Given the description of an element on the screen output the (x, y) to click on. 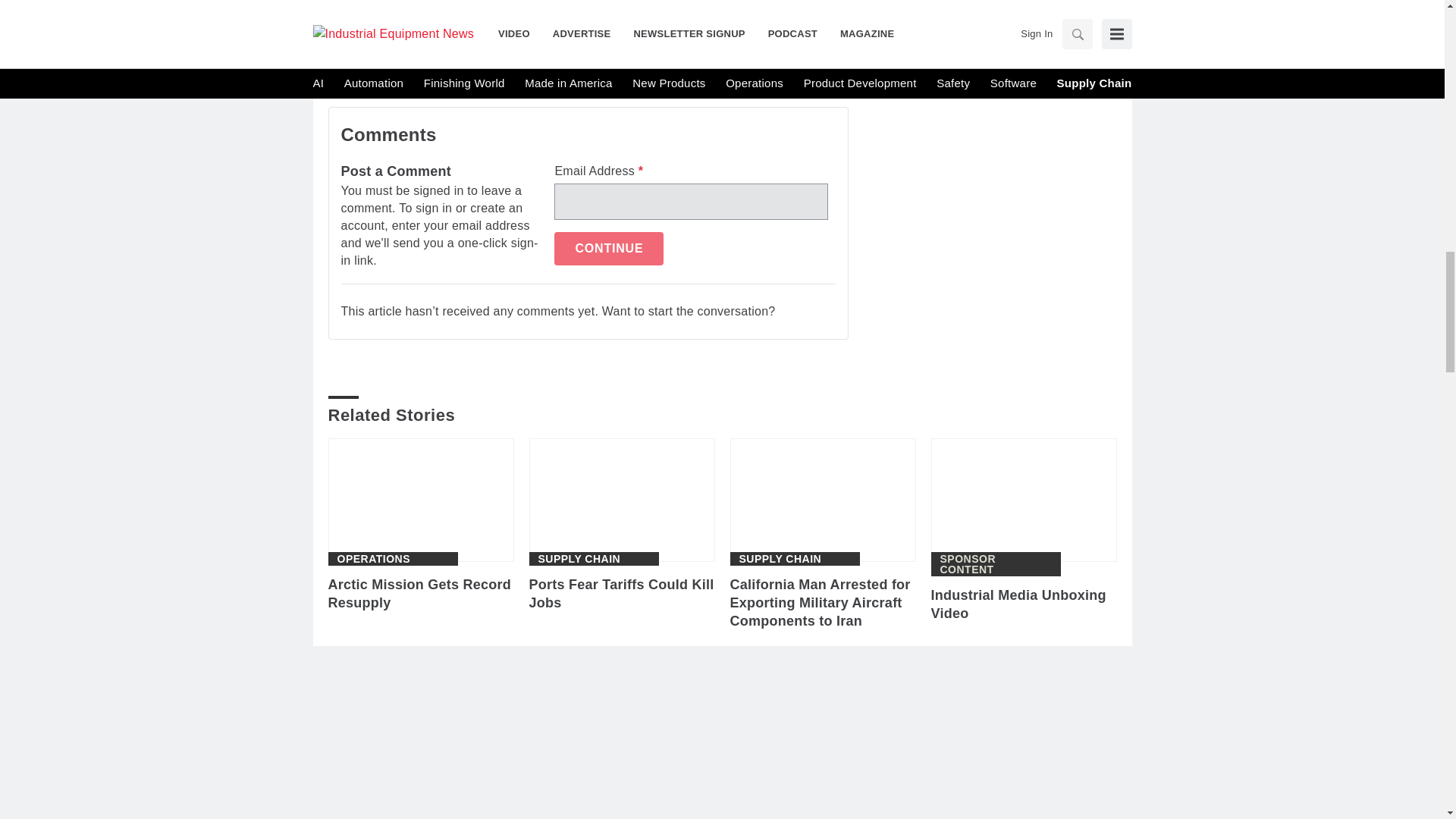
Share To twitter (460, 42)
Share To linkedin (421, 42)
Share To pinterest (499, 42)
Share To facebook (381, 42)
Share To print (342, 42)
